Given the description of an element on the screen output the (x, y) to click on. 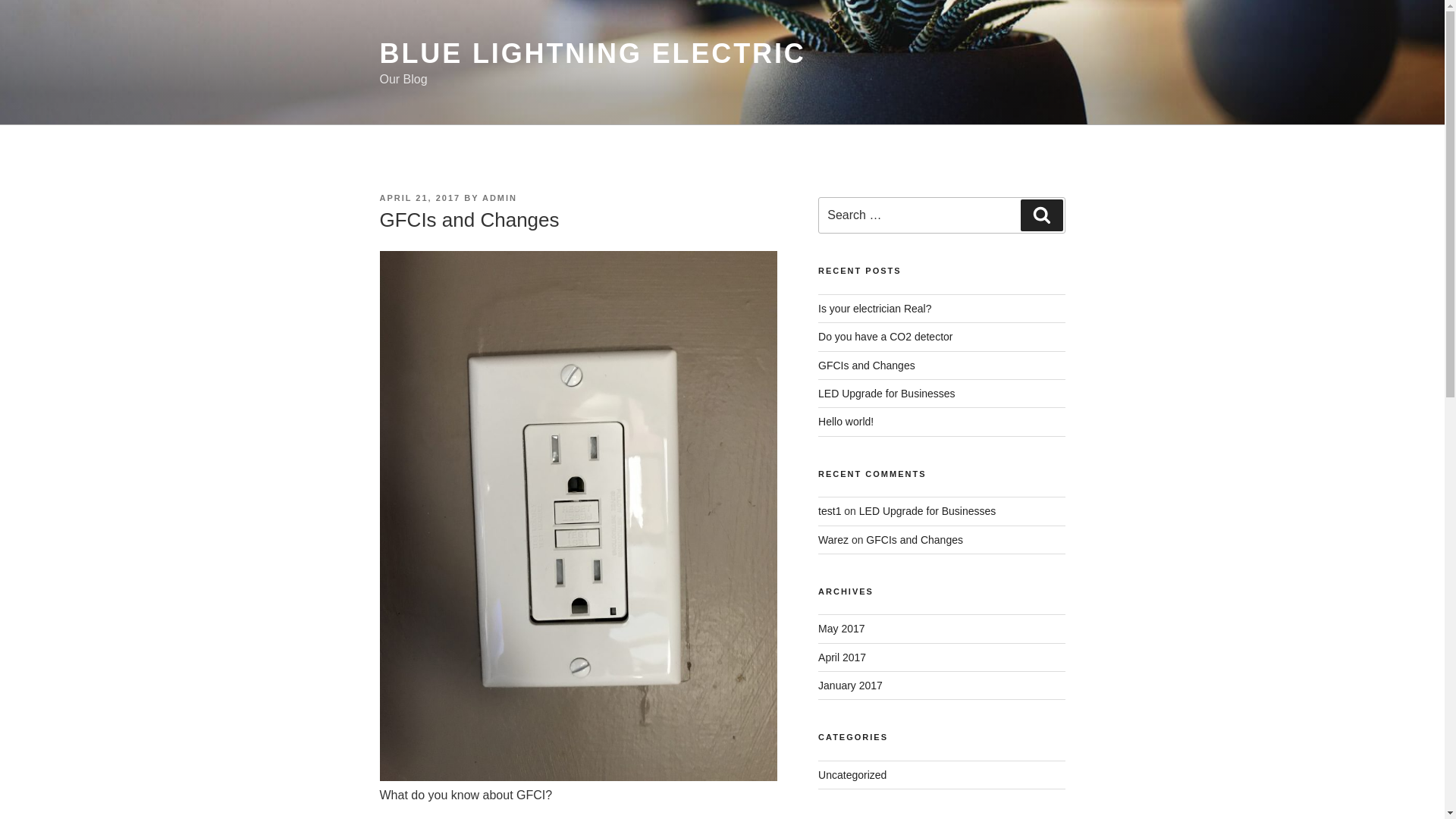
LED Upgrade for Businesses Element type: text (886, 393)
January 2017 Element type: text (850, 685)
LED Upgrade for Businesses Element type: text (927, 511)
GFCIs and Changes Element type: text (914, 539)
test1 Element type: text (829, 511)
April 2017 Element type: text (842, 657)
ADMIN Element type: text (499, 197)
Uncategorized Element type: text (852, 774)
Search Element type: text (1041, 215)
Do you have a CO2 detector Element type: text (885, 336)
GFCIs and Changes Element type: text (866, 365)
APRIL 21, 2017 Element type: text (419, 197)
Hello world! Element type: text (845, 421)
May 2017 Element type: text (841, 628)
Is your electrician Real? Element type: text (874, 308)
BLUE LIGHTNING ELECTRIC Element type: text (592, 53)
Warez Element type: text (833, 539)
